Given the description of an element on the screen output the (x, y) to click on. 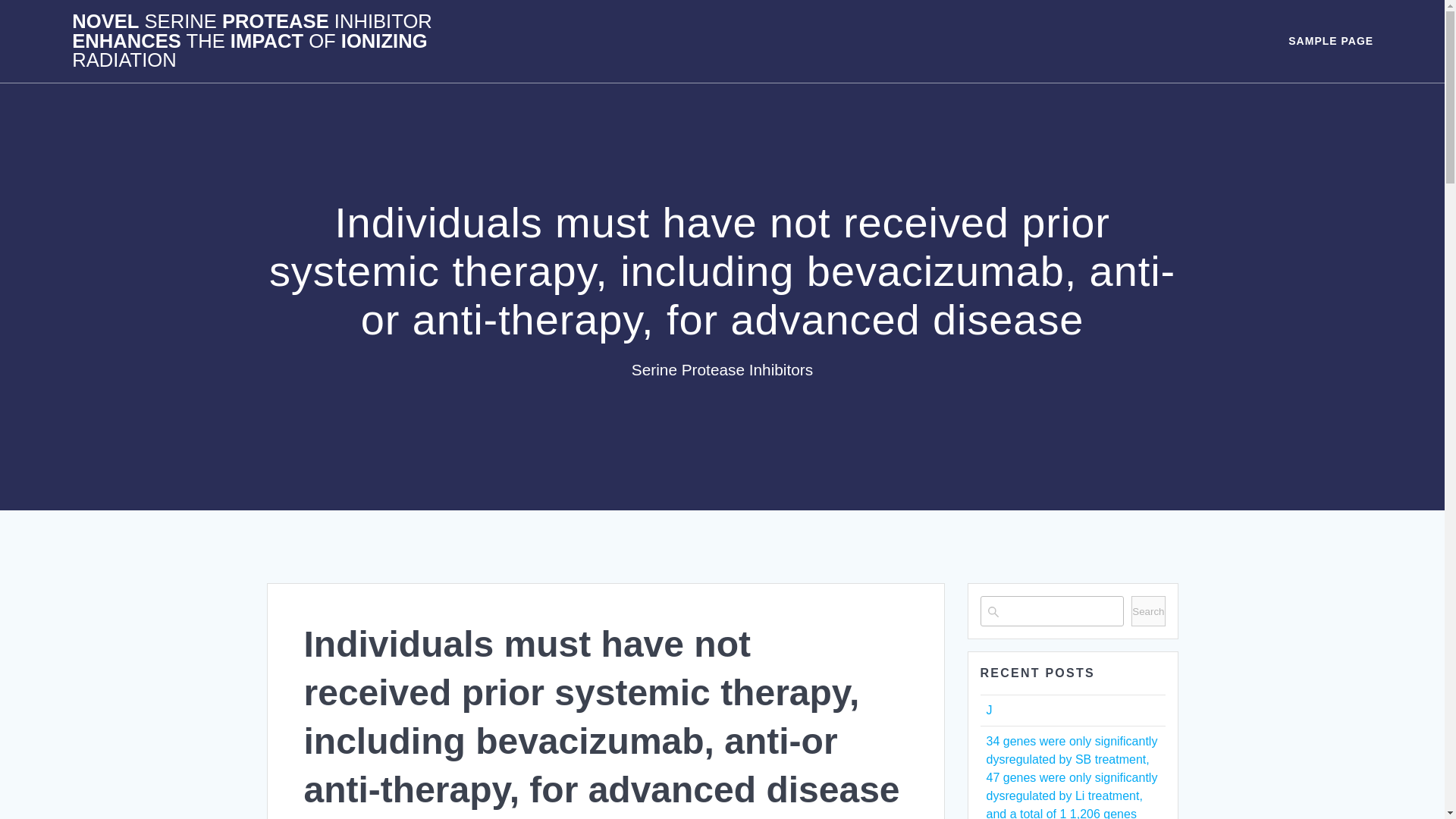
Search (1147, 611)
SAMPLE PAGE (1330, 40)
